Given the description of an element on the screen output the (x, y) to click on. 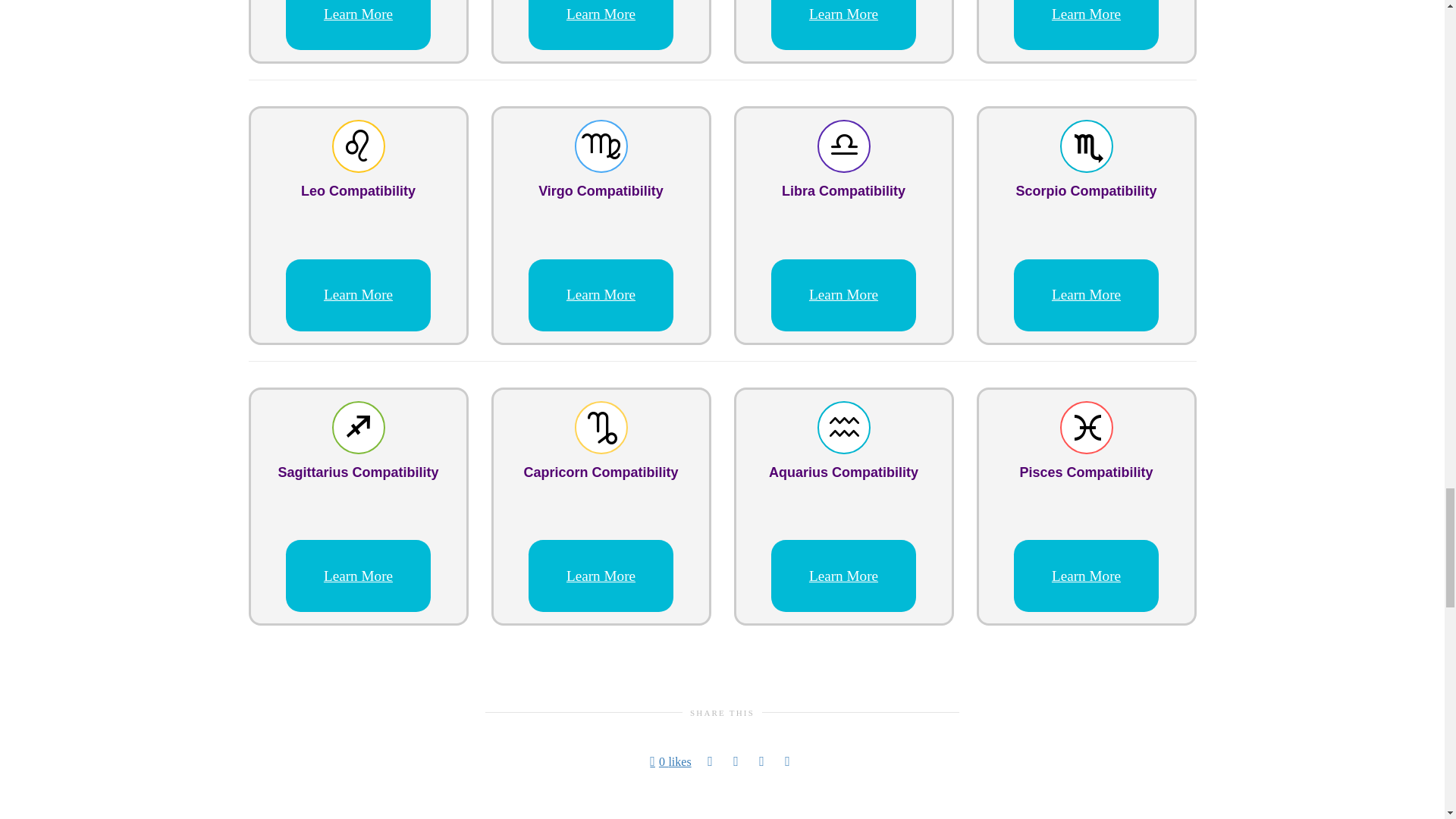
Like this (669, 762)
